Given the description of an element on the screen output the (x, y) to click on. 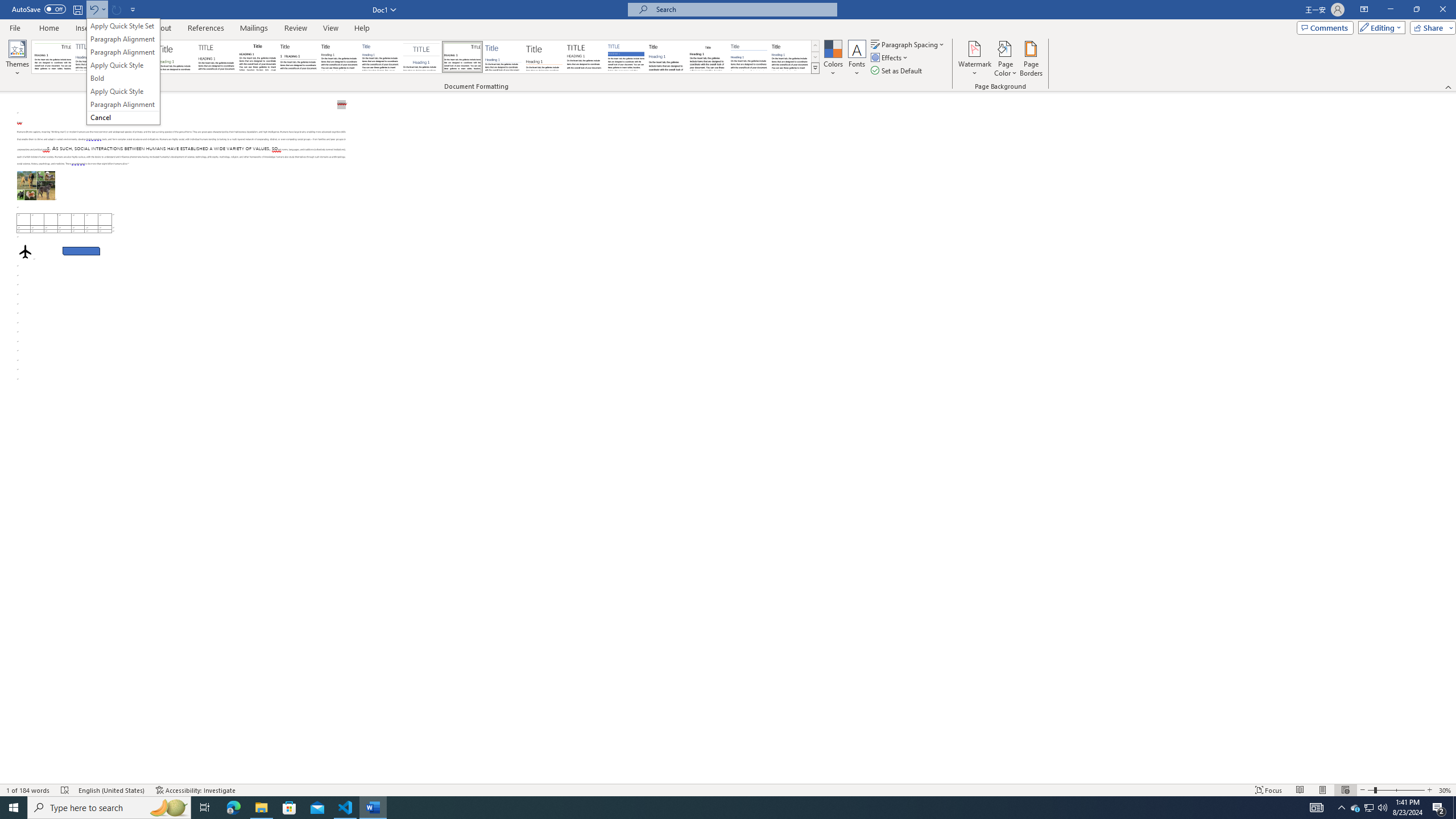
Set as Default (897, 69)
Fonts (856, 58)
Black & White (Word 2013) (338, 56)
